Given the description of an element on the screen output the (x, y) to click on. 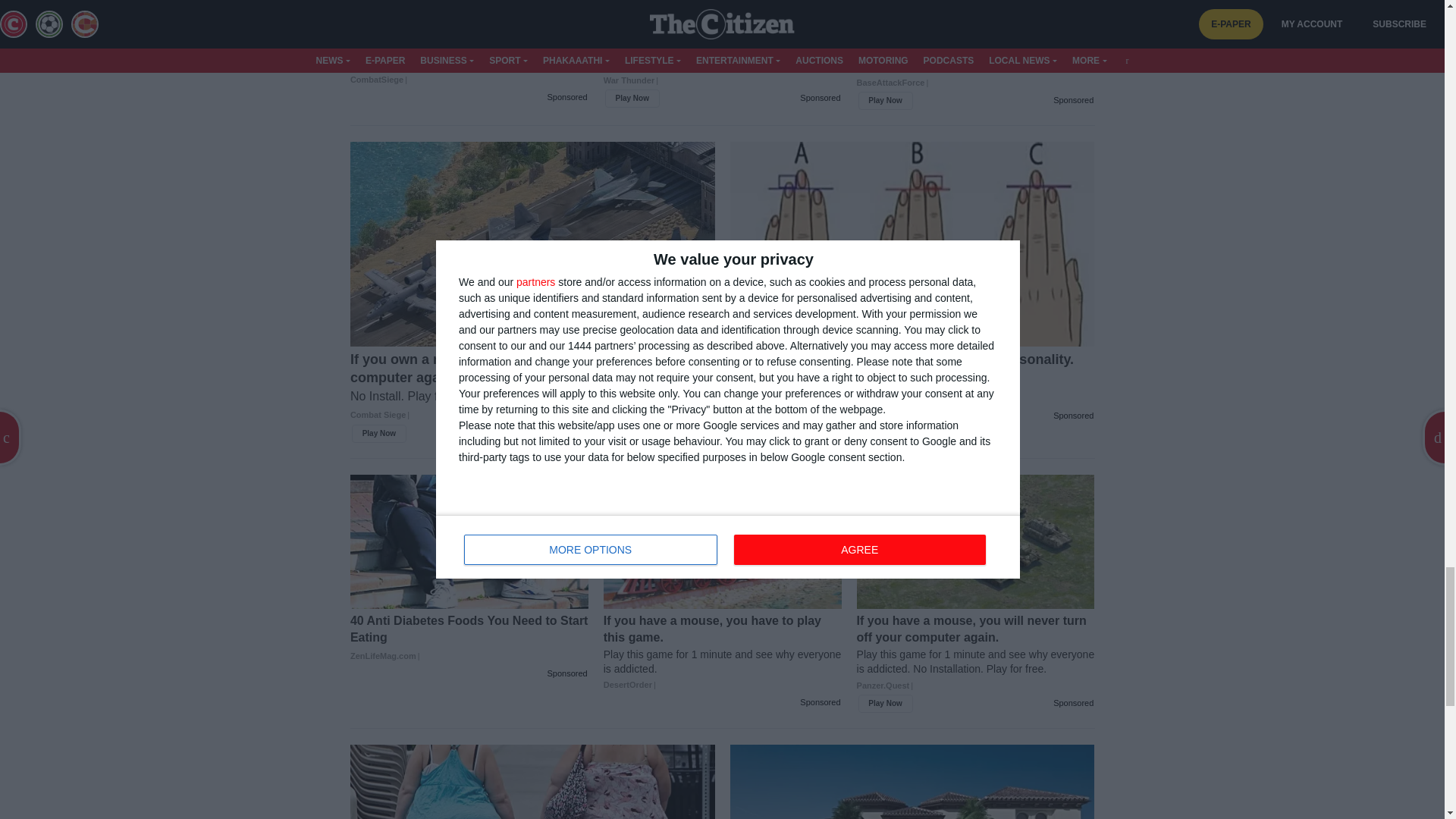
Play War Thunder now for free (722, 63)
40 Anti Diabetes Foods You Need to Start Eating (469, 638)
If you own a mouse, play it for 1 minute. (469, 55)
